Given the description of an element on the screen output the (x, y) to click on. 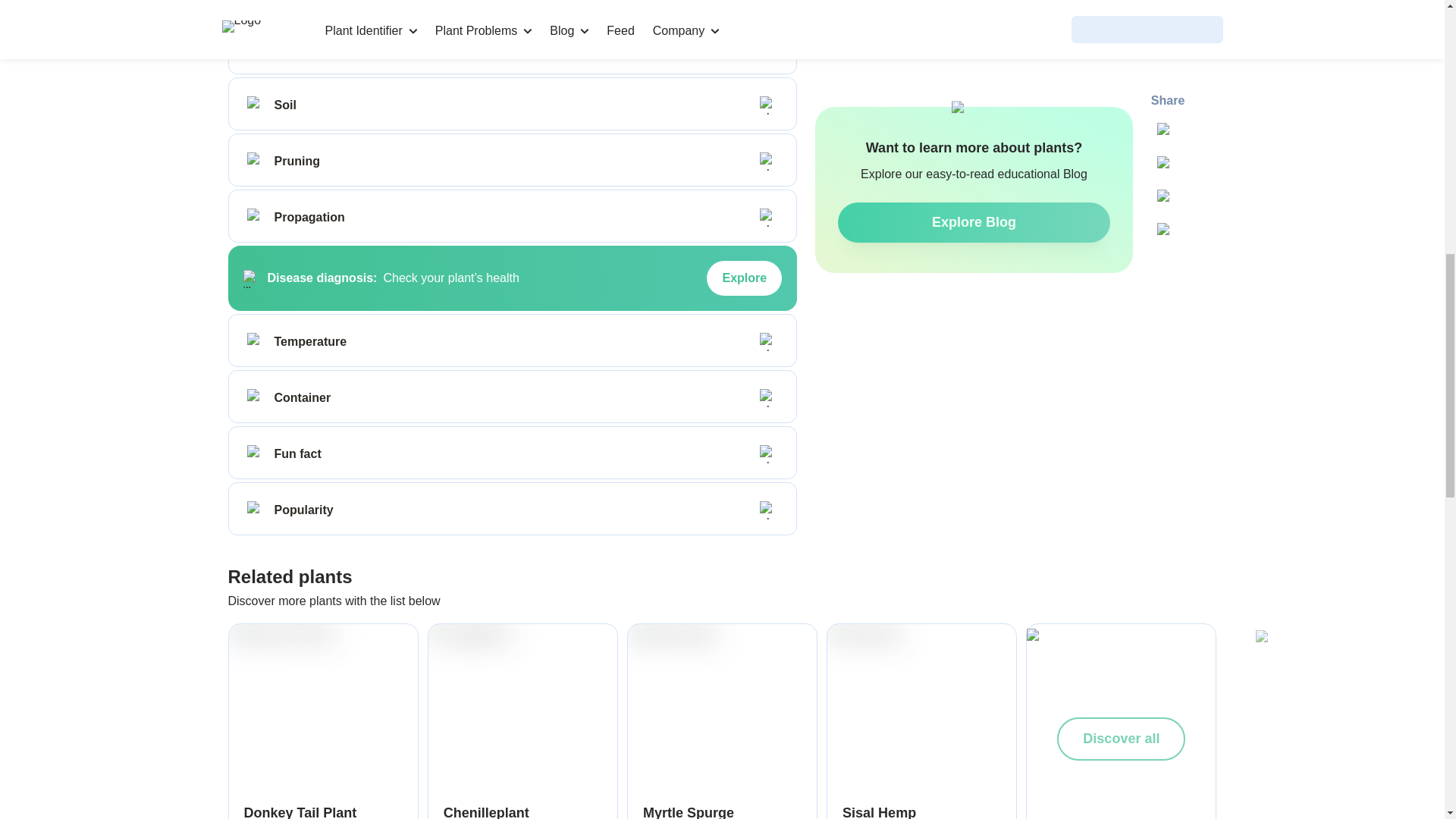
Sunlight (255, 1)
Temperature (255, 341)
Fertilizer (255, 49)
Soil (255, 105)
Propagation (255, 217)
Container (255, 398)
Pruning (255, 161)
Explore (743, 278)
